Given the description of an element on the screen output the (x, y) to click on. 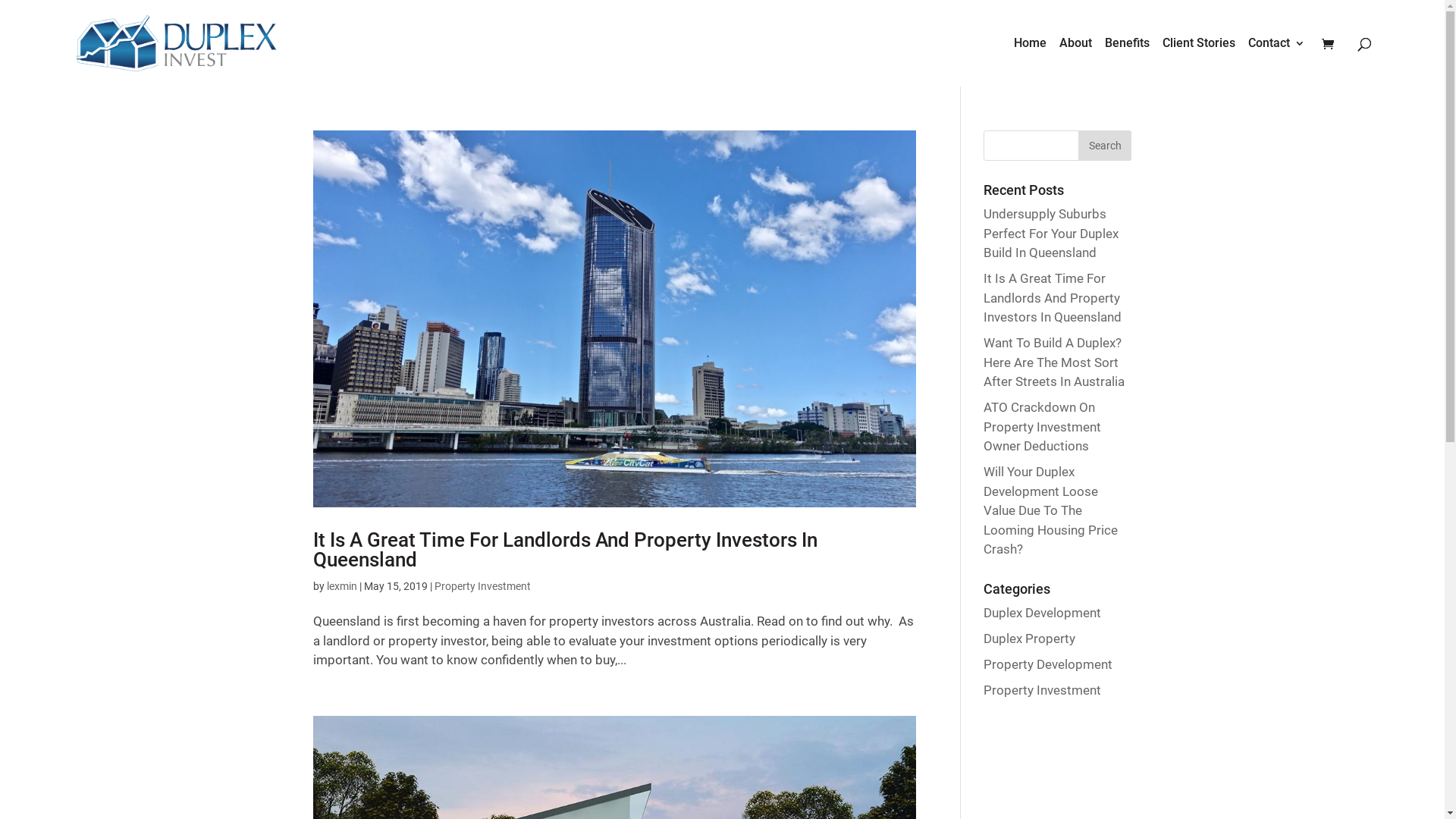
Duplex Property Element type: text (1029, 638)
Home Element type: text (1029, 61)
Property Investment Element type: text (481, 586)
Property Development Element type: text (1047, 663)
About Element type: text (1075, 61)
lexmin Element type: text (341, 586)
Property Investment Element type: text (1042, 689)
Search Element type: text (1104, 145)
Duplex Development Element type: text (1042, 612)
Contact Element type: text (1276, 61)
Client Stories Element type: text (1198, 61)
Benefits Element type: text (1126, 61)
ATO Crackdown On Property Investment Owner Deductions Element type: text (1042, 426)
